Given the description of an element on the screen output the (x, y) to click on. 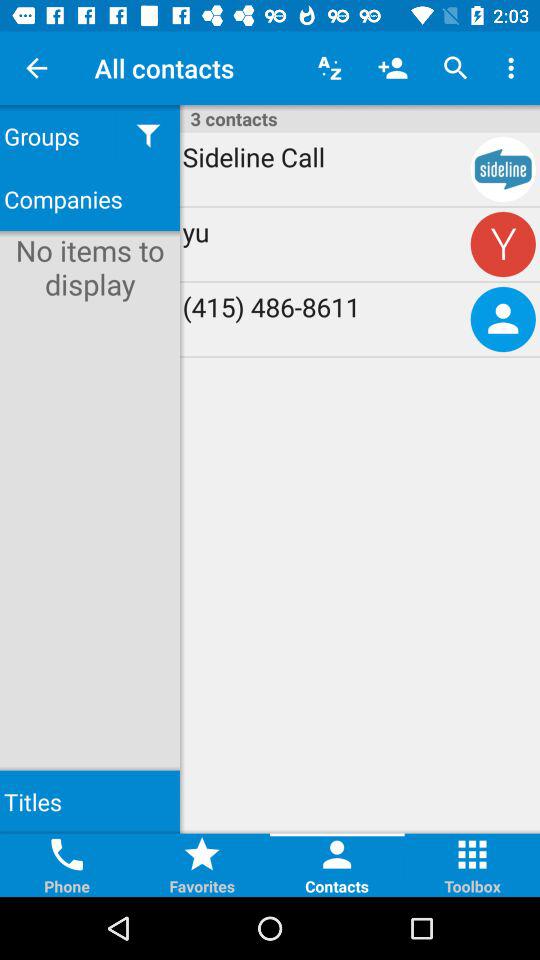
open companies icon (90, 198)
